Given the description of an element on the screen output the (x, y) to click on. 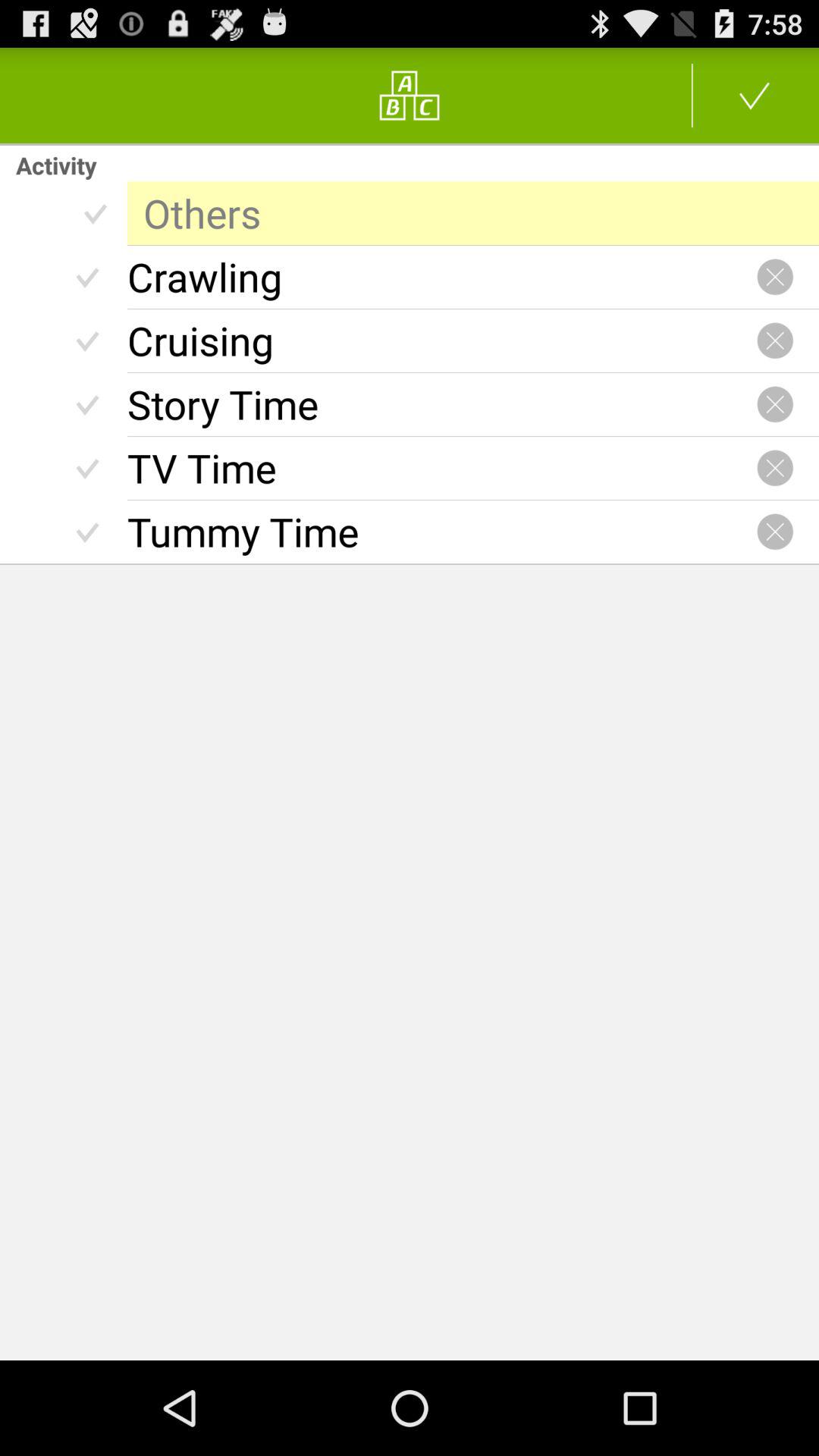
canceling particular activity (775, 340)
